Given the description of an element on the screen output the (x, y) to click on. 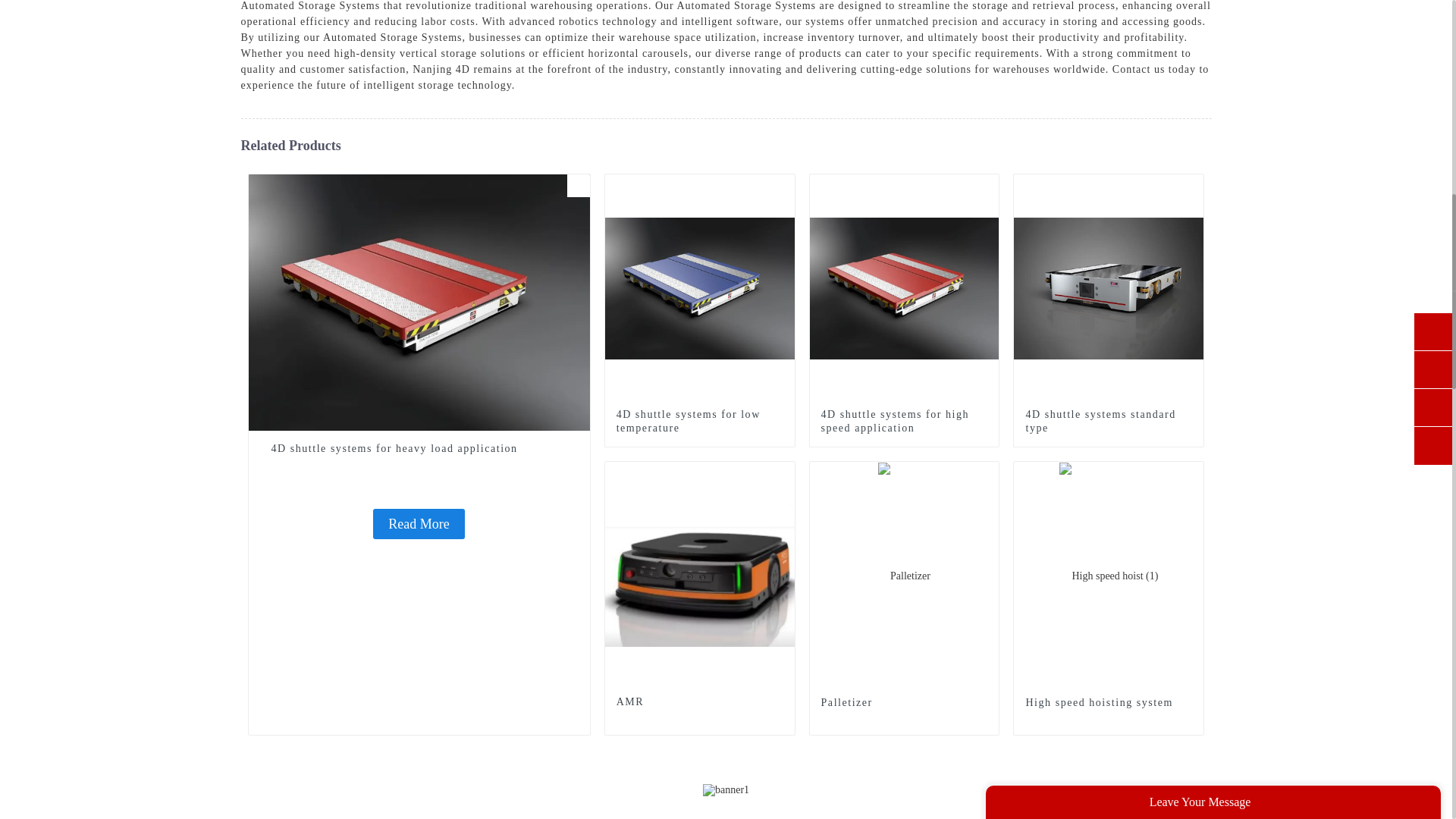
4D shuttle systems for low temperature  (699, 420)
4D shuttle systems standard type (1108, 287)
standard edition (1192, 185)
AMR (782, 472)
Read More (418, 522)
4D shuttle systems for low temperature (699, 420)
Palletizer (904, 703)
heavy version (578, 185)
4D shuttle systems for heavy load application  (418, 448)
4D shuttle systems for low temperature  (699, 287)
